Given the description of an element on the screen output the (x, y) to click on. 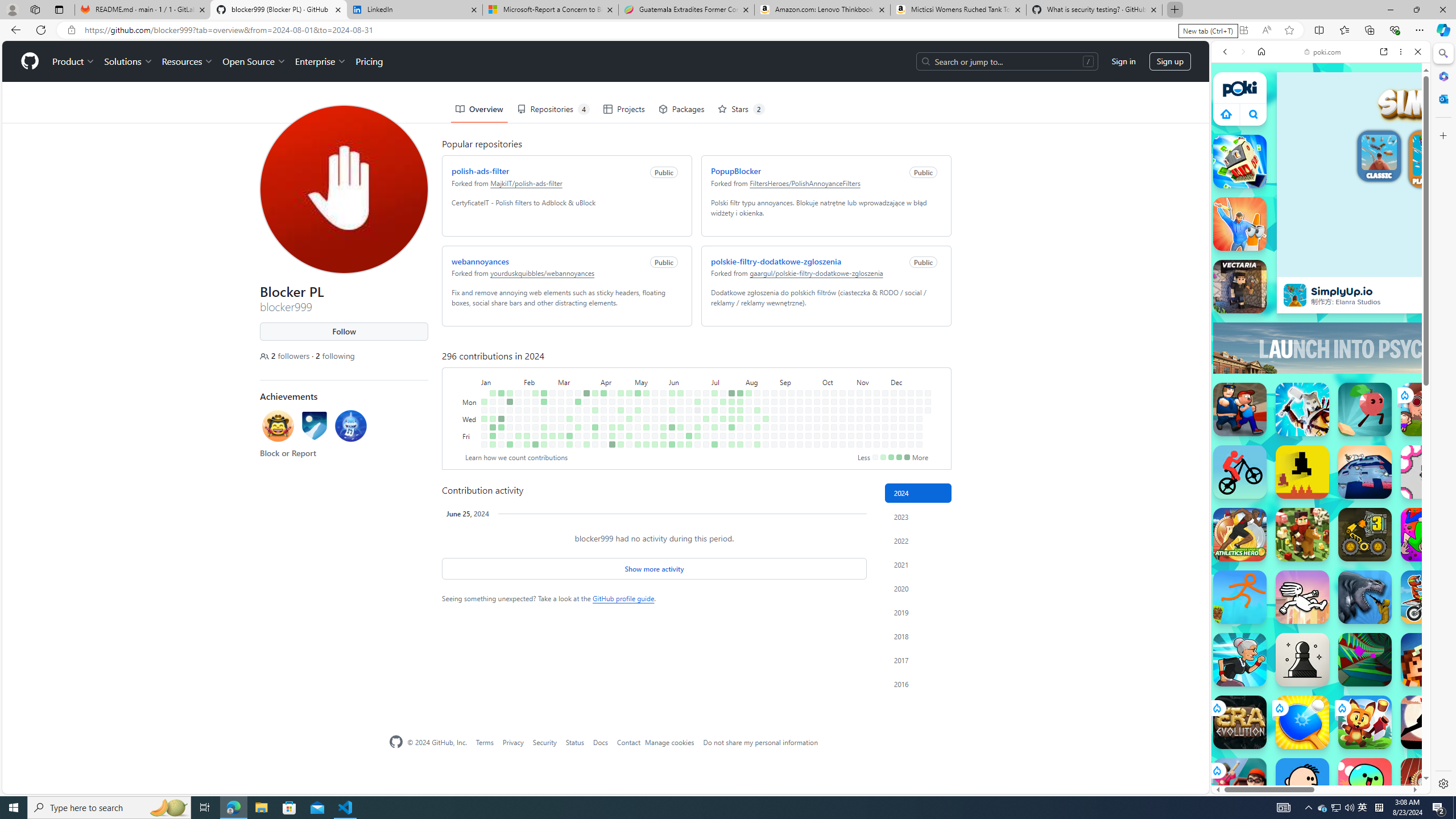
2 contributions on June 2nd. (671, 392)
No contributions on April 17th. (611, 418)
5 contributions on April 7th. (603, 392)
Open link in new tab (1383, 51)
No contributions on December 1st. (893, 392)
3 contributions on August 4th. (748, 392)
No contributions on August 26th. (774, 401)
2 contributions on April 18th. (611, 427)
1 contribution on July 30th. (740, 410)
No contributions on May 9th. (637, 427)
1 contribution on April 2nd. (595, 410)
2019 (917, 612)
No contributions on January 15th. (500, 401)
July (727, 380)
Poor Eddie Poor Eddie (1302, 784)
